Given the description of an element on the screen output the (x, y) to click on. 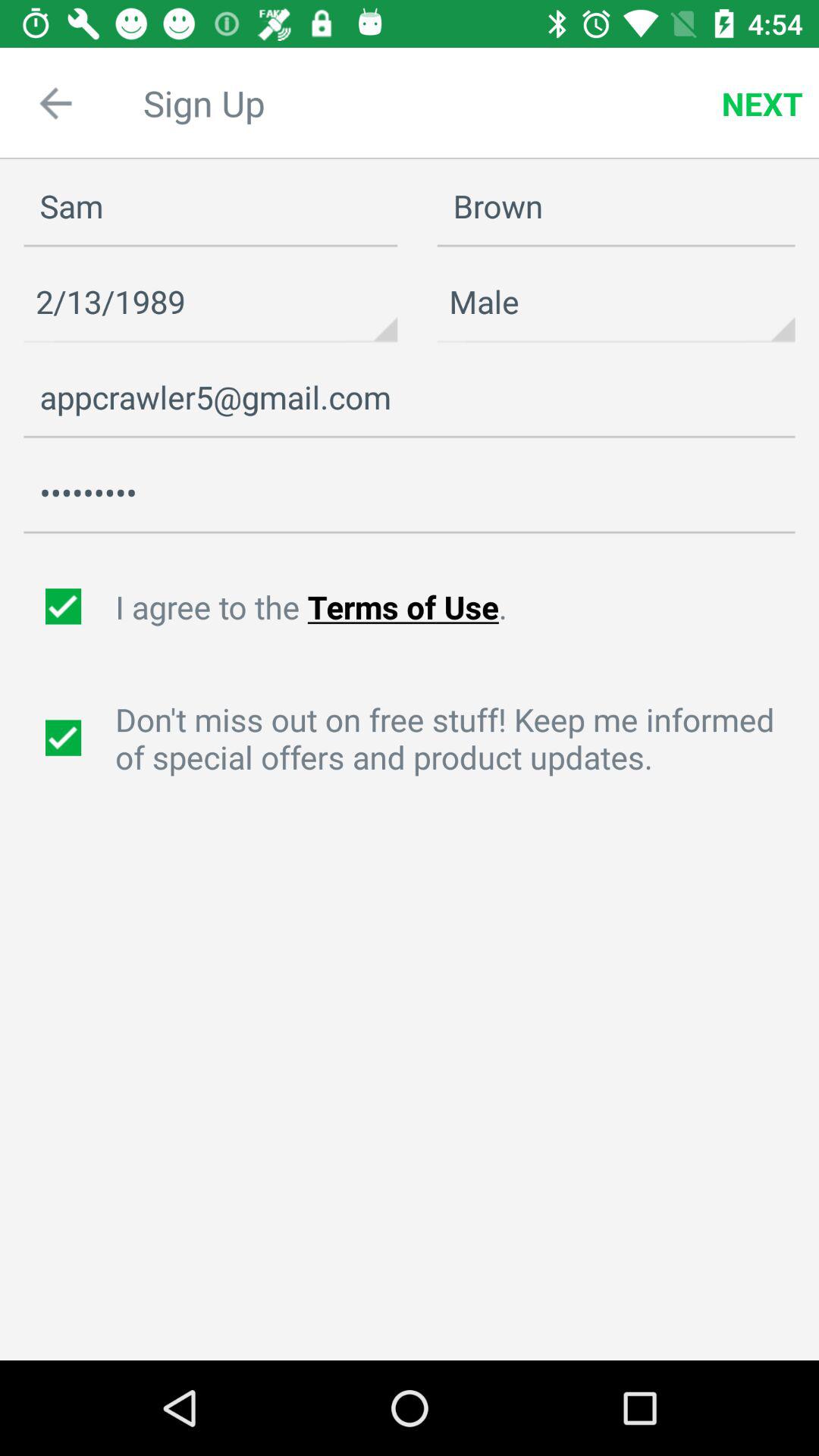
turn on icon next to the sam item (762, 103)
